Given the description of an element on the screen output the (x, y) to click on. 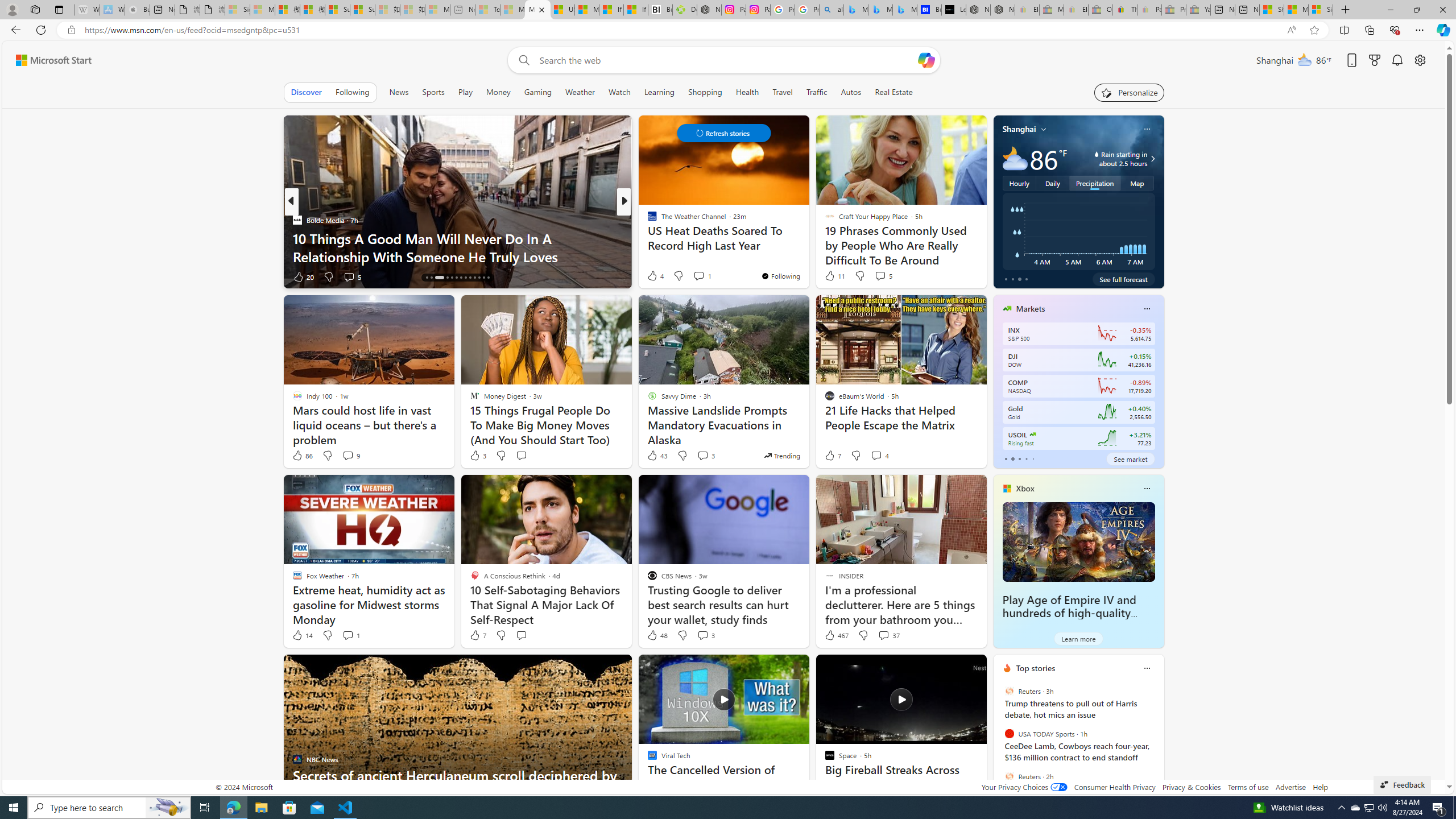
3 Like (477, 455)
View comments 3 Comment (703, 635)
115 Like (654, 276)
Microsoft Bing Travel - Flights from Hong Kong to Bangkok (855, 9)
Play (465, 92)
Enter your search term (726, 59)
Reuters (1008, 775)
Top Stories - MSN - Sleeping (487, 9)
tab-0 (1005, 458)
Threats and offensive language policy | eBay (1124, 9)
Your Privacy Choices (1024, 786)
